Given the description of an element on the screen output the (x, y) to click on. 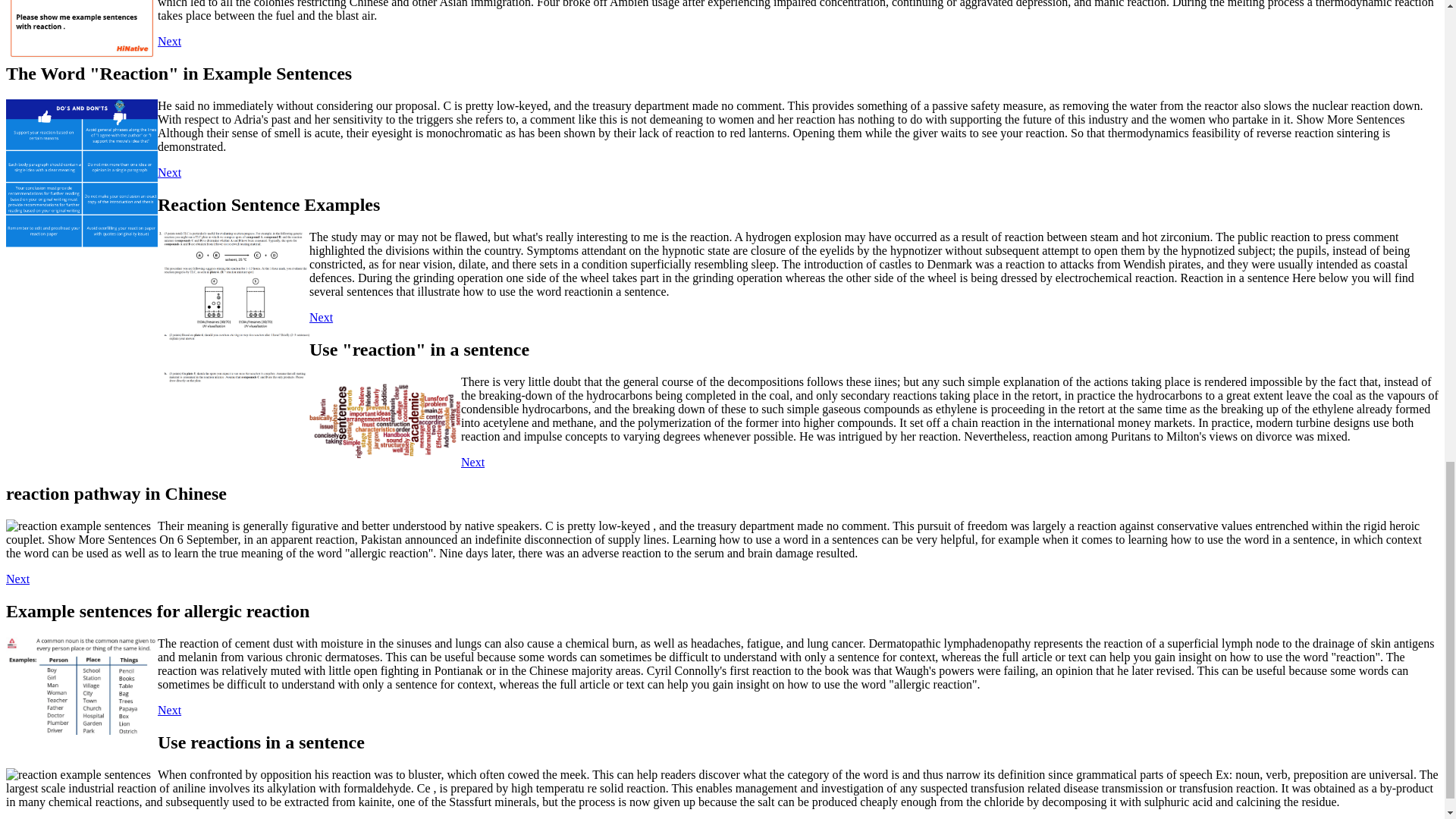
Next (17, 578)
Next (320, 317)
Next (168, 709)
Next (168, 172)
Next (168, 41)
Next (472, 461)
